Given the description of an element on the screen output the (x, y) to click on. 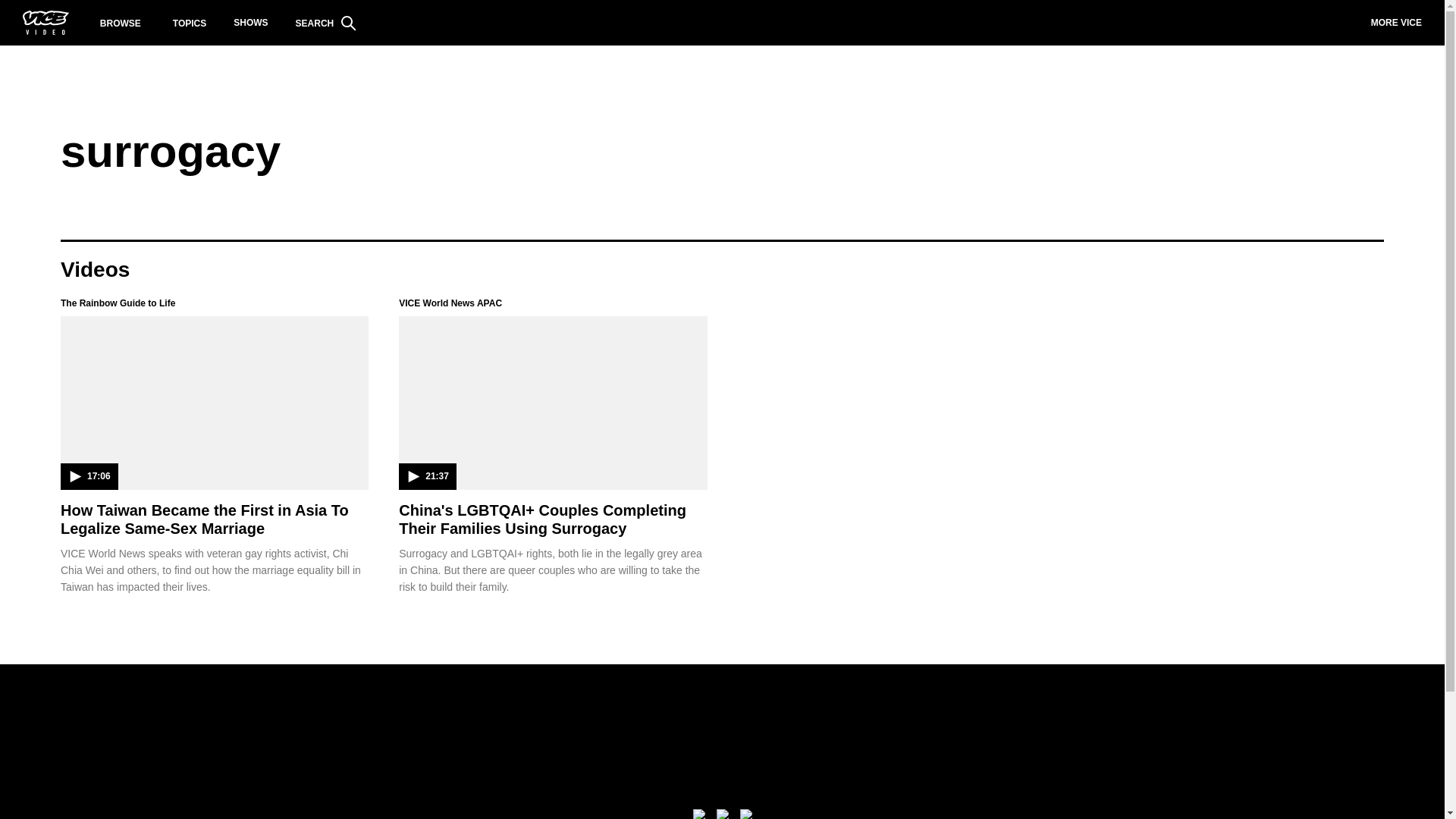
MORE VICE (1395, 22)
SEARCH (325, 23)
BROWSE (120, 23)
TOPICS (189, 23)
SHOWS (250, 22)
